Given the description of an element on the screen output the (x, y) to click on. 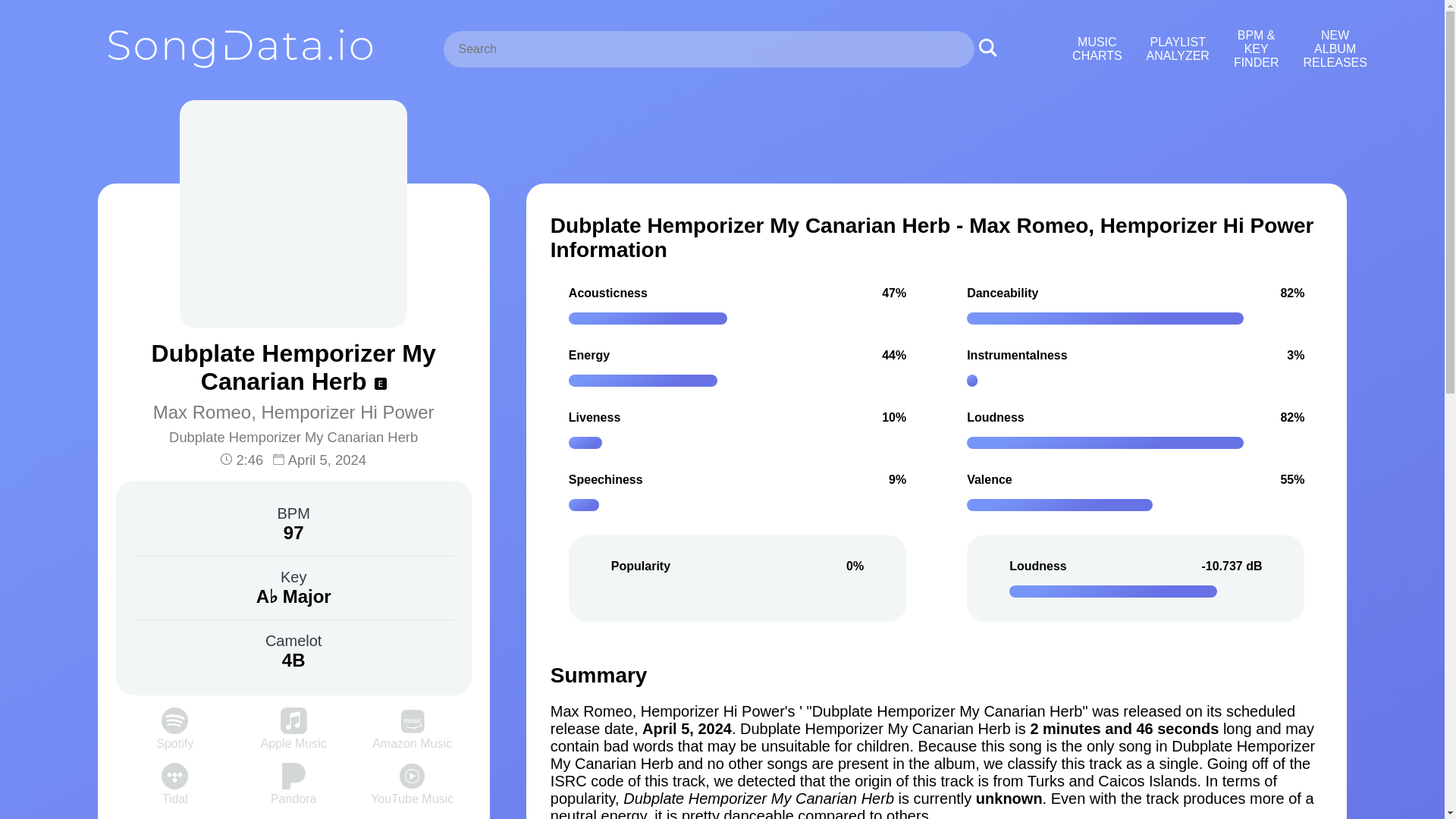
Pandora (293, 791)
Dubplate Hemporizer My Canarian Herb (292, 437)
PLAYLIST ANALYZER (1178, 49)
Spotify (174, 736)
MUSIC CHARTS (1096, 49)
submit (987, 48)
Tidal (174, 791)
YouTube Music (411, 791)
NEW ALBUM RELEASES (1335, 48)
Amazon Music (411, 736)
